Given the description of an element on the screen output the (x, y) to click on. 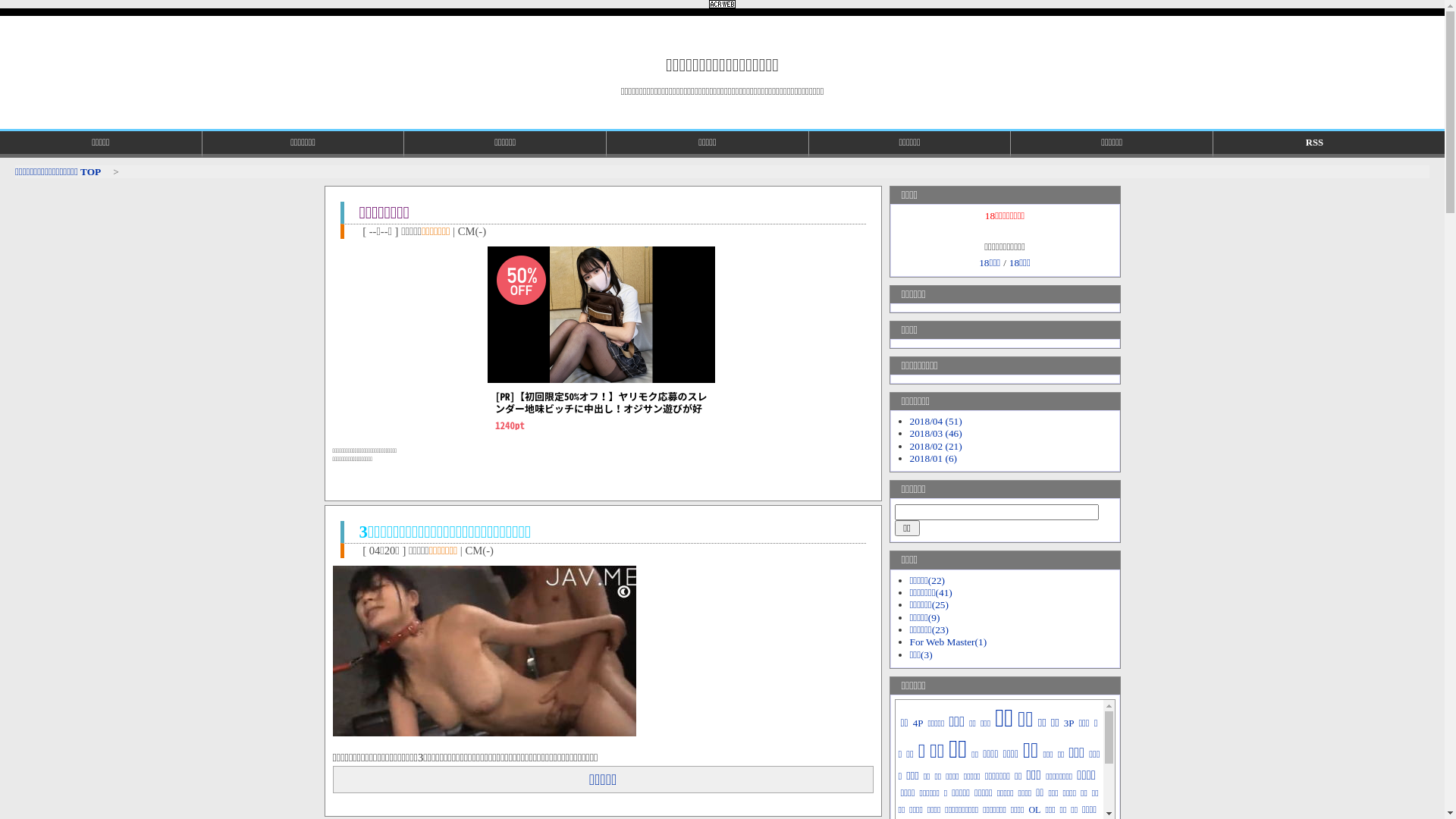
For Web Master(1) Element type: text (948, 641)
3P Element type: text (1068, 722)
2018/02 (21) Element type: text (936, 445)
2018/04 (51) Element type: text (936, 420)
4P Element type: text (918, 722)
OL Element type: text (1034, 809)
RSS Element type: text (1314, 143)
2018/01 (6) Element type: text (933, 458)
2018/03 (46) Element type: text (936, 433)
